Given the description of an element on the screen output the (x, y) to click on. 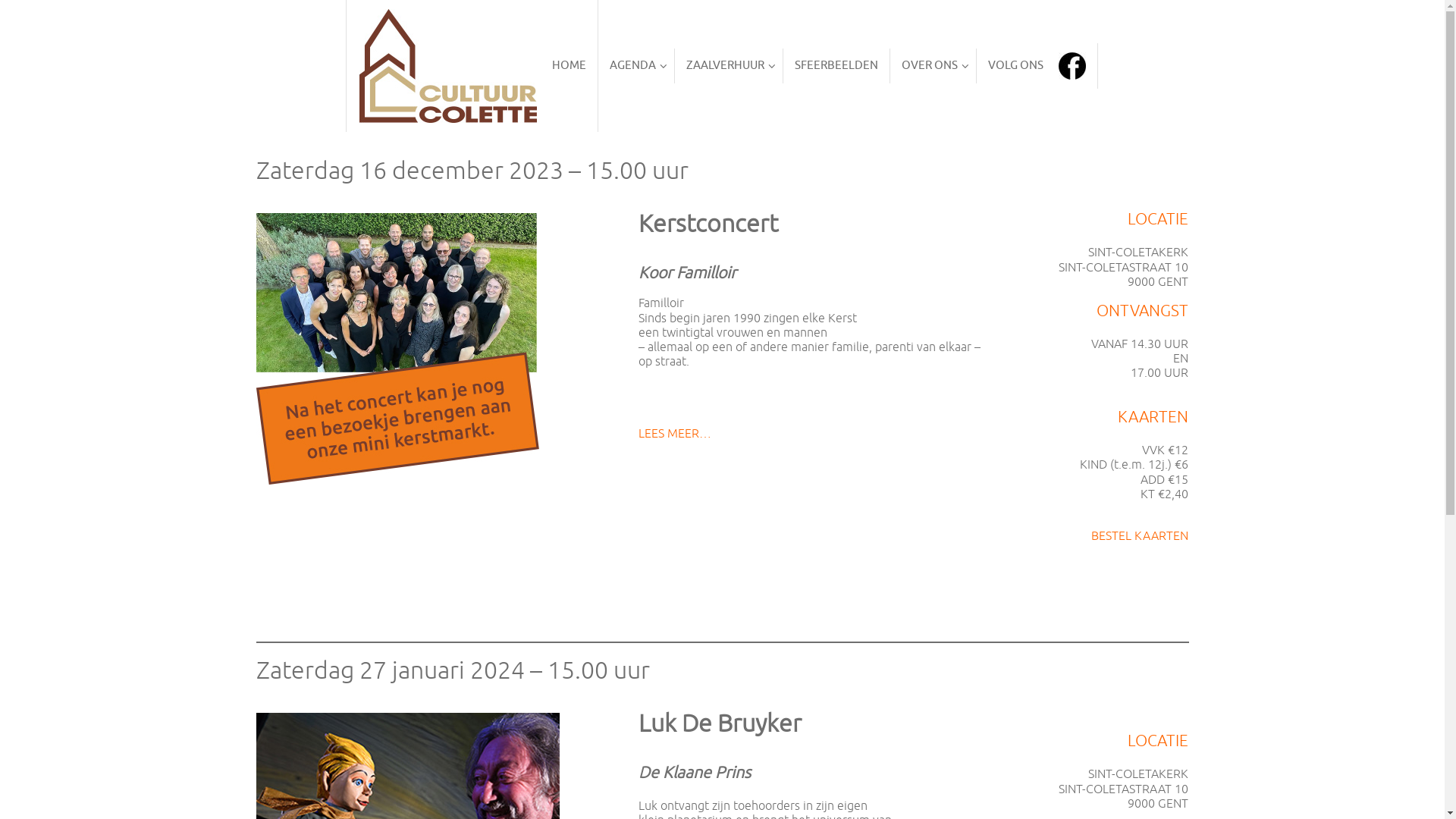
BESTEL KAARTEN Element type: text (1139, 535)
SFEERBEELDEN Element type: text (836, 66)
OVER ONS Element type: text (933, 66)
HOME Element type: text (472, 65)
VOLG ONS Element type: text (1037, 65)
ZAALVERHUUR Element type: text (728, 66)
AGENDA Element type: text (636, 66)
